Given the description of an element on the screen output the (x, y) to click on. 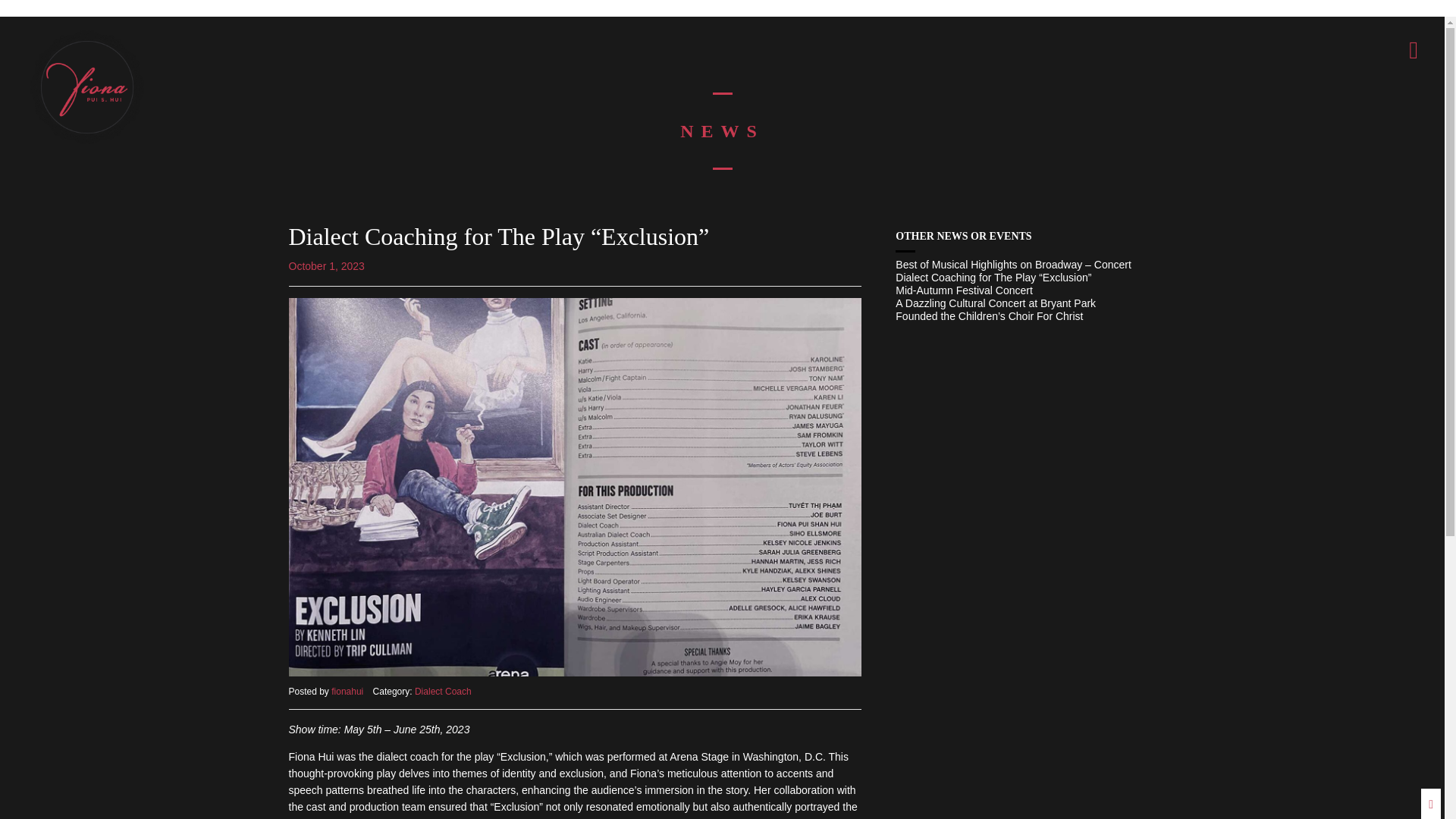
Dialect Coach (442, 691)
A Dazzling Cultural Concert at Bryant Park (1025, 302)
fionahui (346, 691)
Mid-Autumn Festival Concert (1025, 289)
